Given the description of an element on the screen output the (x, y) to click on. 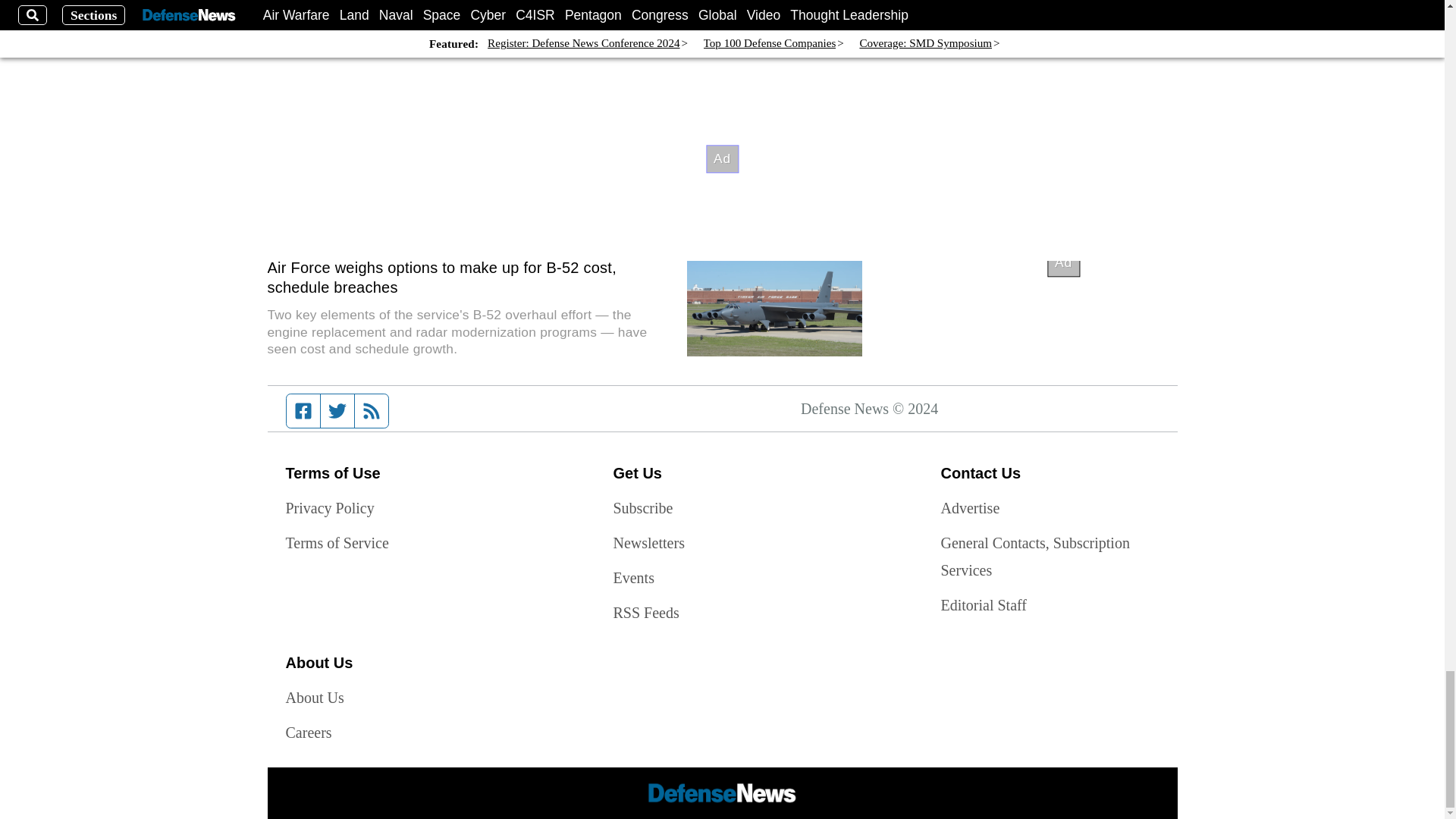
Facebook page (303, 410)
RSS feed (371, 410)
Twitter feed (336, 410)
